Given the description of an element on the screen output the (x, y) to click on. 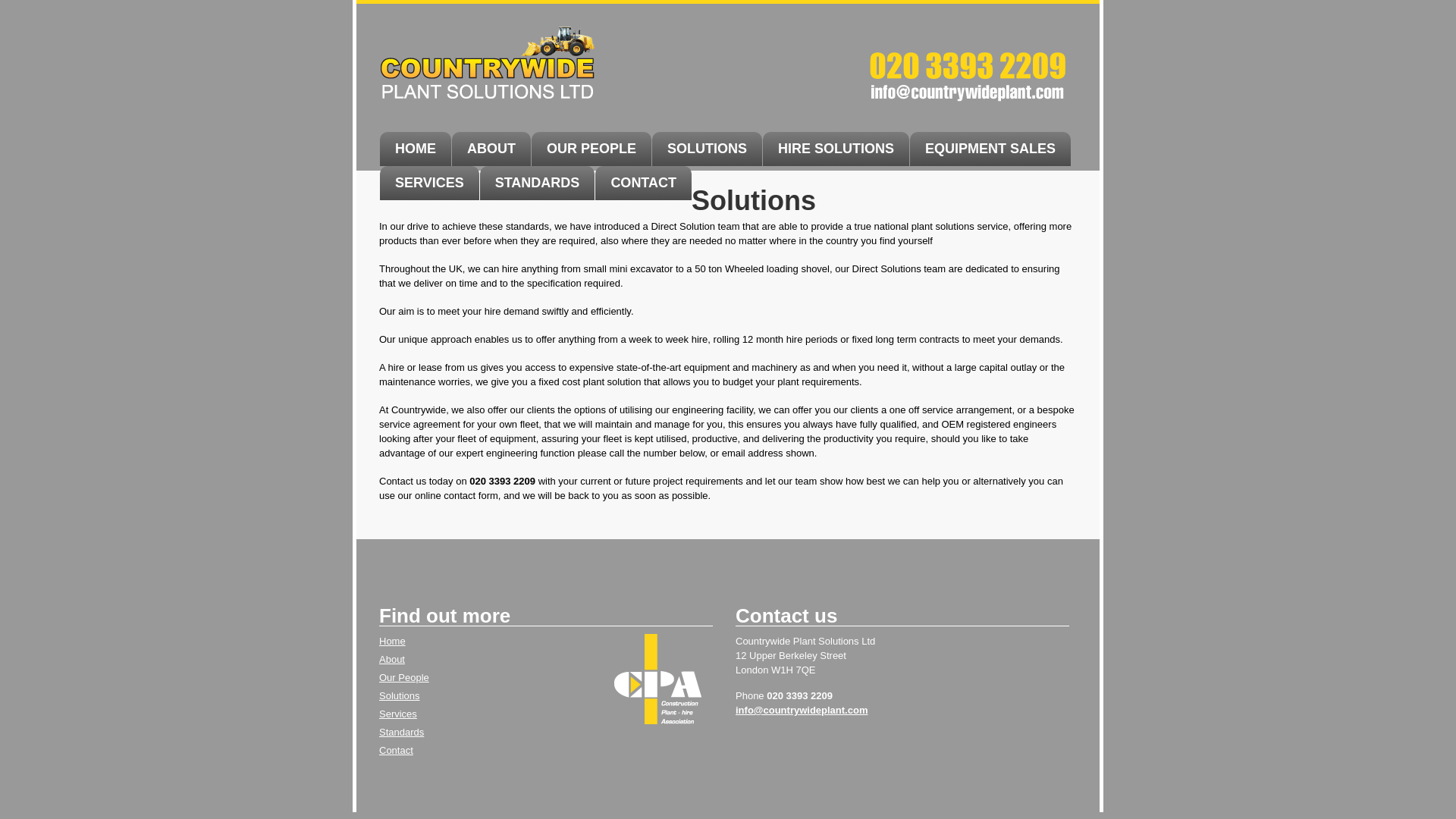
Solutions (398, 695)
CONTACT (643, 182)
EQUIPMENT SALES (990, 148)
ABOUT (491, 148)
About (391, 659)
Home (415, 148)
OUR PEOPLE (590, 148)
Standards (400, 731)
Home (706, 148)
Home (398, 695)
